Given the description of an element on the screen output the (x, y) to click on. 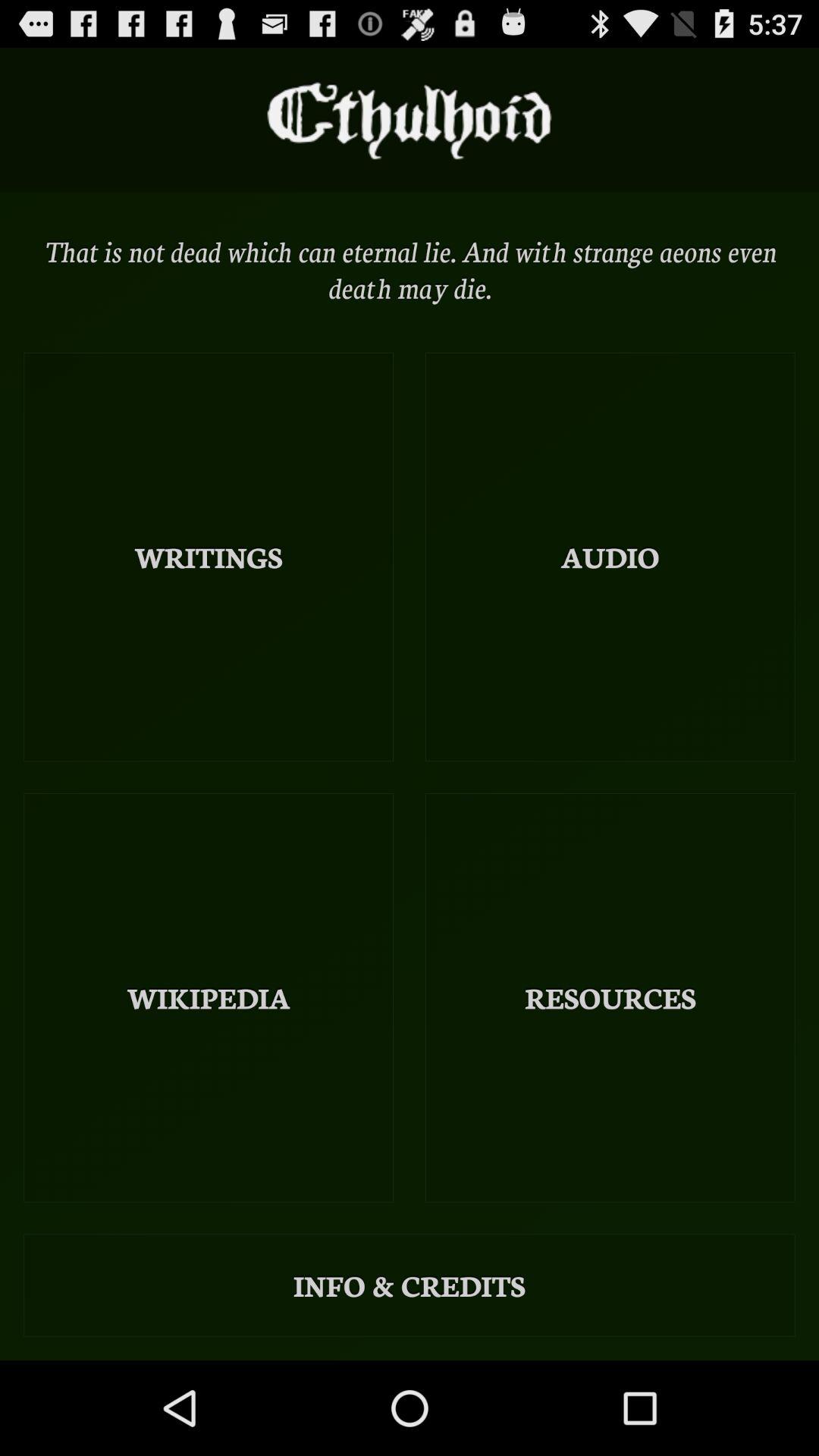
click icon below audio icon (610, 997)
